Given the description of an element on the screen output the (x, y) to click on. 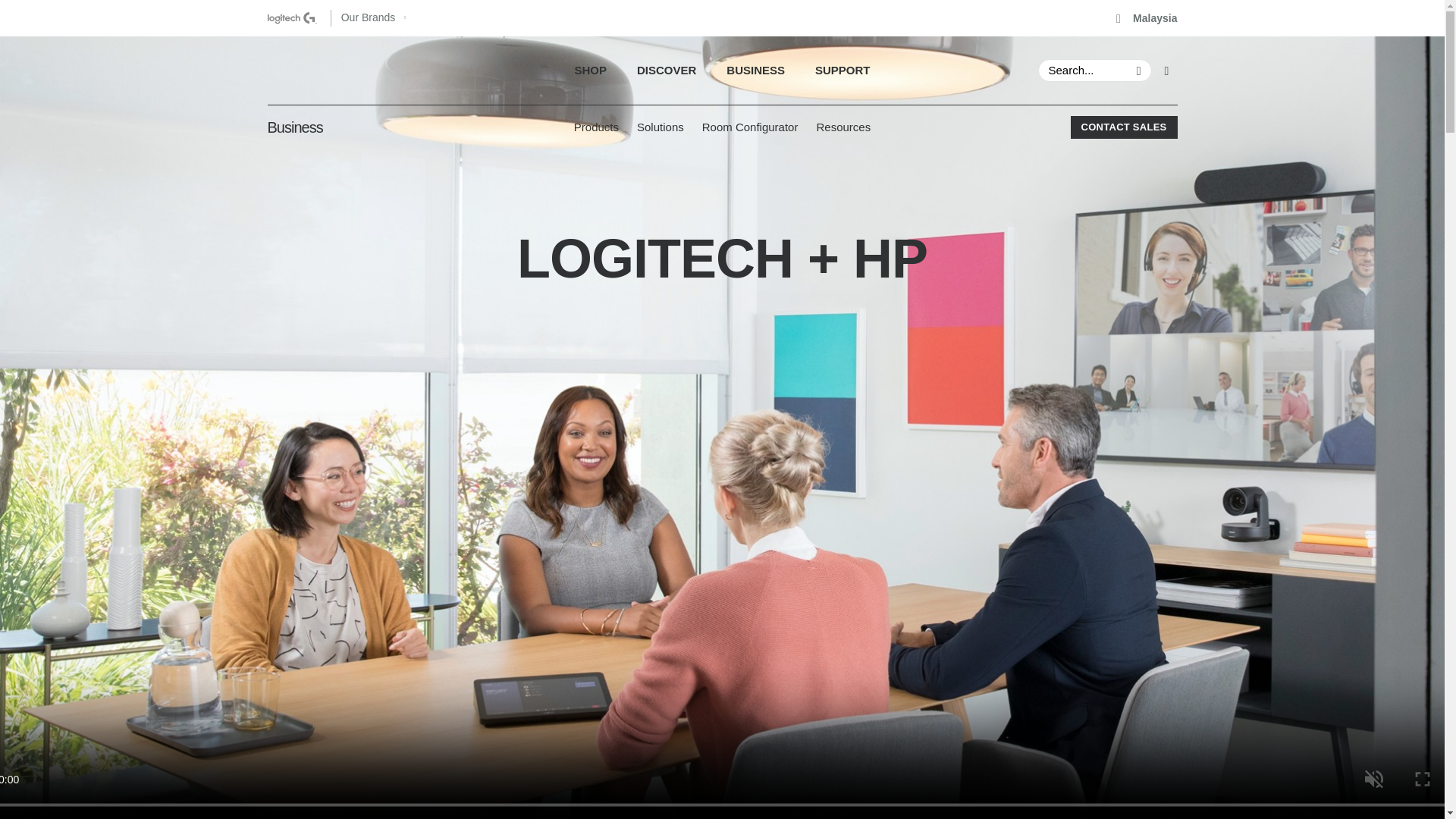
CONTACT SALES (1123, 127)
Malaysia (722, 70)
Our Brands (1146, 18)
SHOP (722, 70)
